Given the description of an element on the screen output the (x, y) to click on. 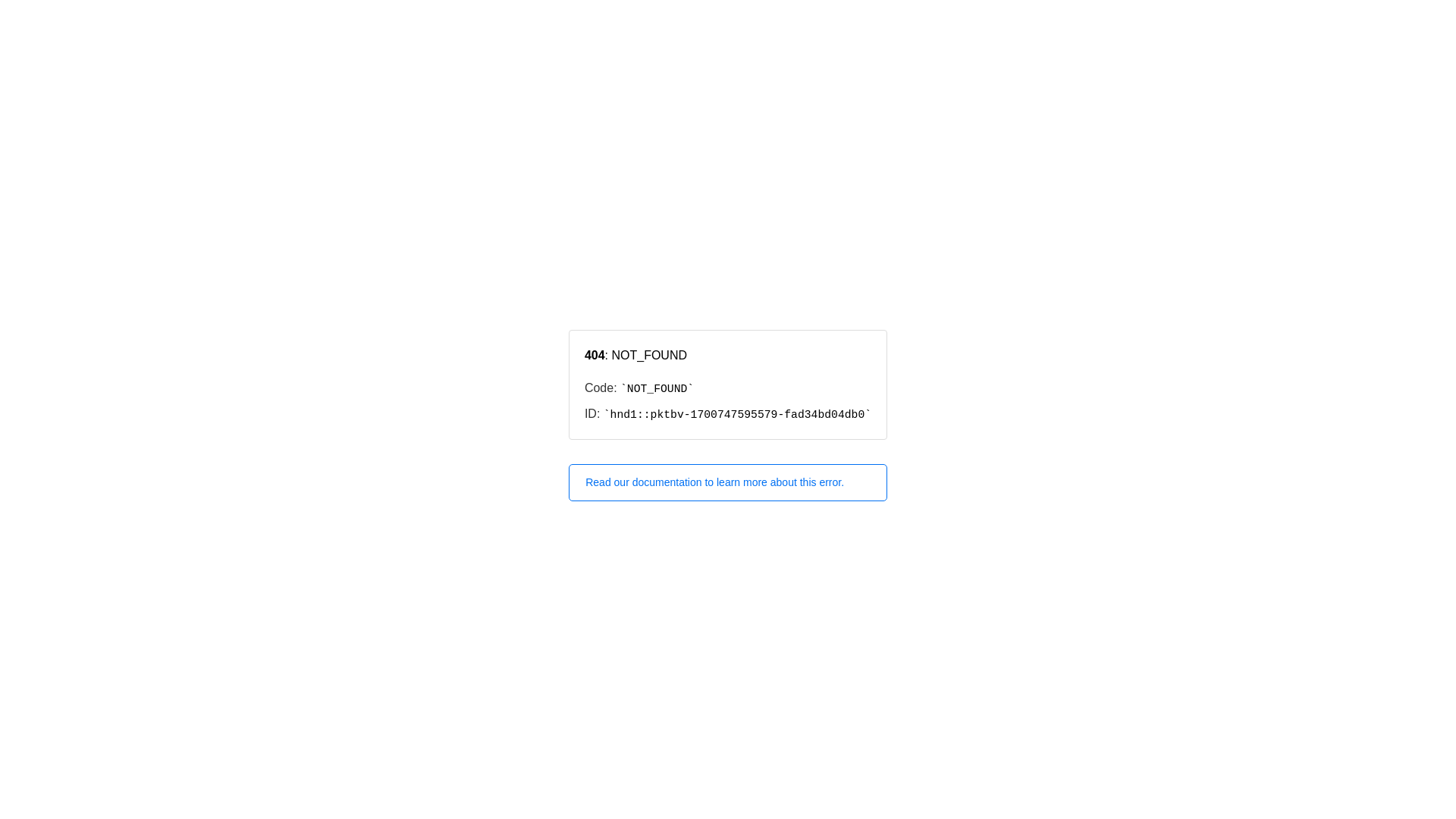
Read our documentation to learn more about this error. Element type: text (727, 482)
